Given the description of an element on the screen output the (x, y) to click on. 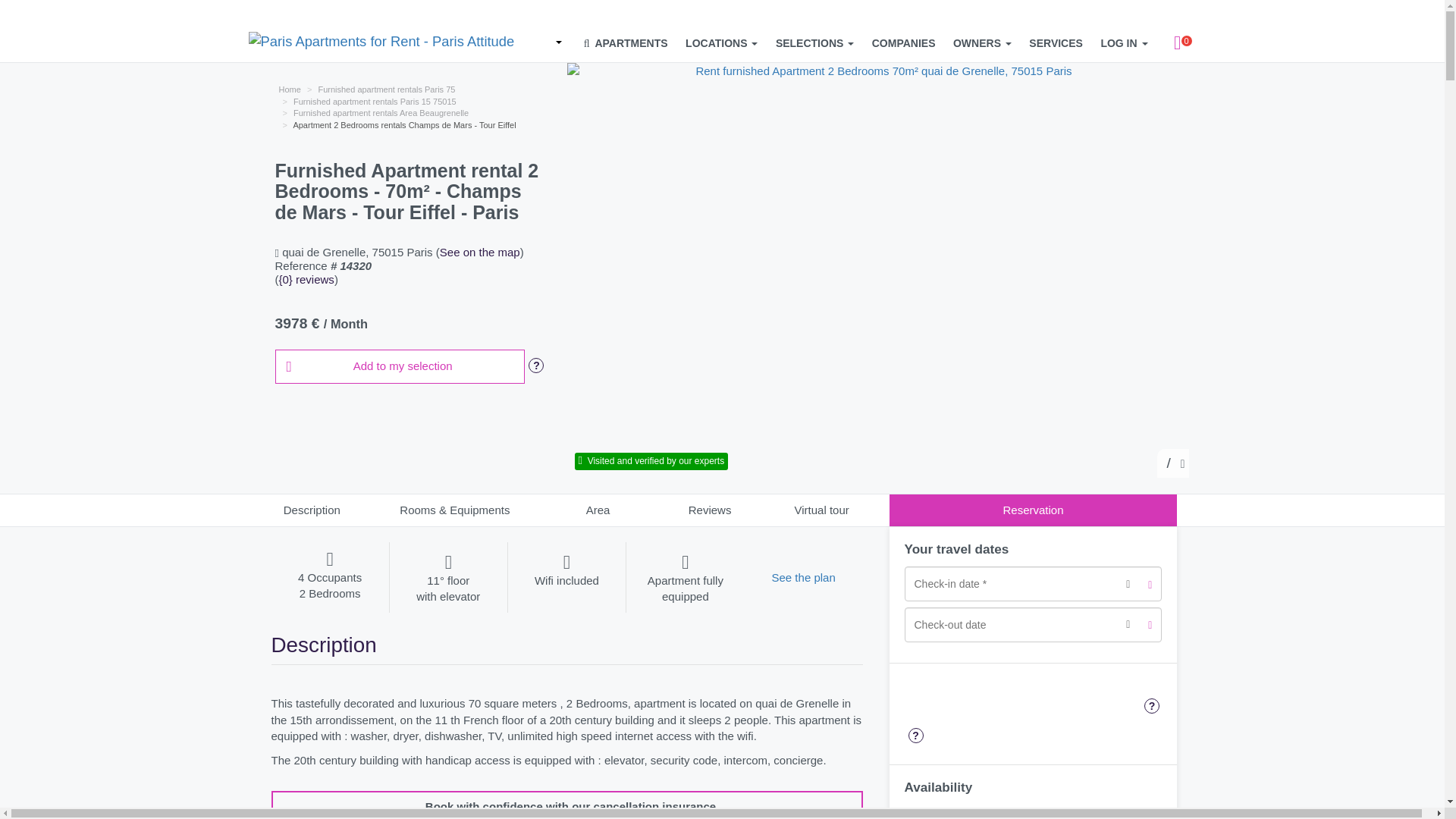
SELECTIONS (814, 43)
LOG IN (1123, 43)
  Visited and verified by our experts (650, 460)
OWNERS (982, 43)
SERVICES (1056, 43)
0 (1177, 43)
COMPANIES (904, 43)
APARTMENTS (625, 43)
LOCATIONS (721, 43)
